Given the description of an element on the screen output the (x, y) to click on. 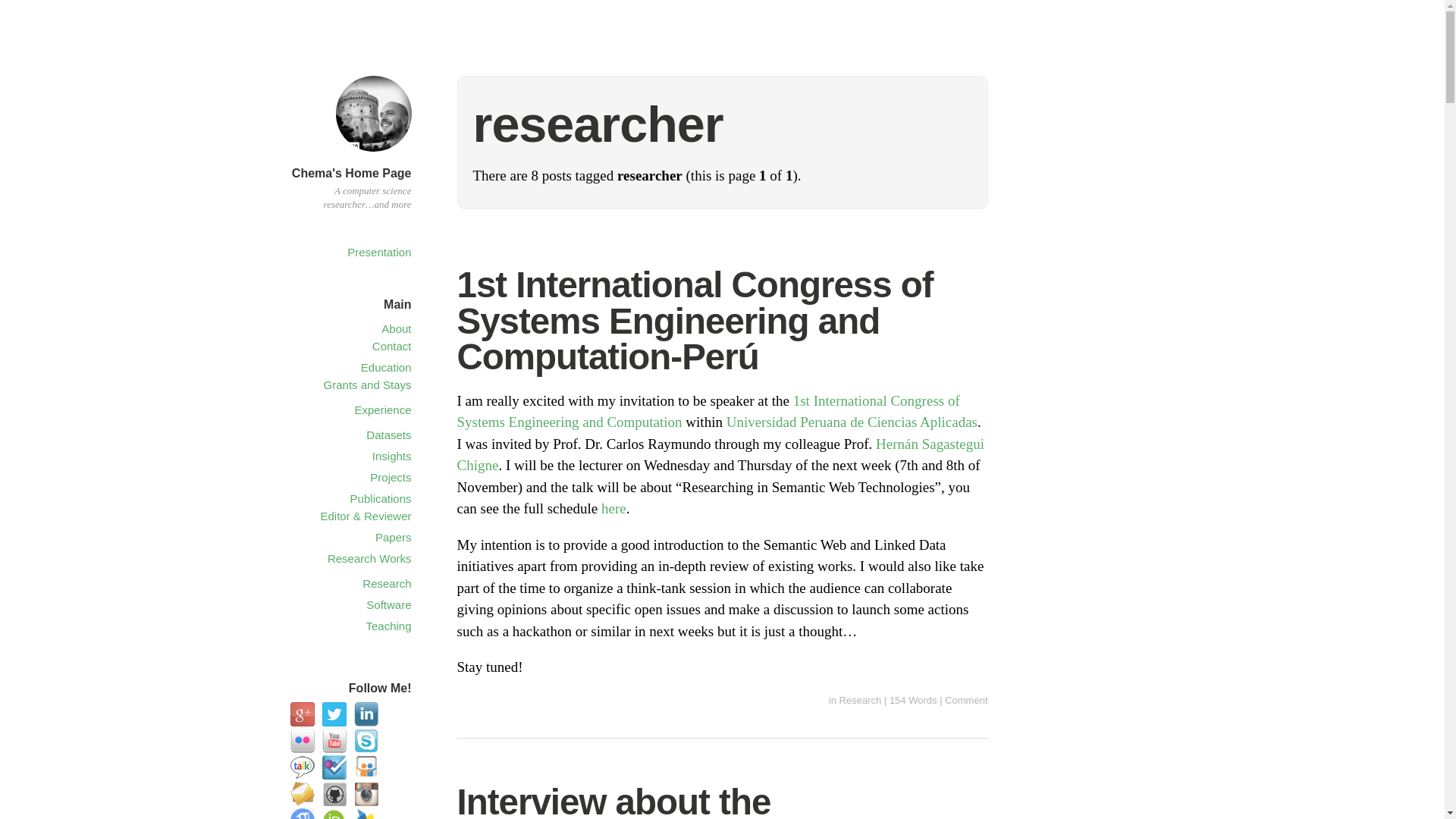
here (613, 508)
Comment (965, 699)
Permalink to Interview about the Webindex (613, 800)
Chema's Home Page (352, 173)
Chema's Home Page (372, 154)
Interview about the Webindex (613, 800)
Research (861, 699)
Universidad Peruana de Ciencias Aplicadas (851, 421)
Presentation (378, 251)
